Given the description of an element on the screen output the (x, y) to click on. 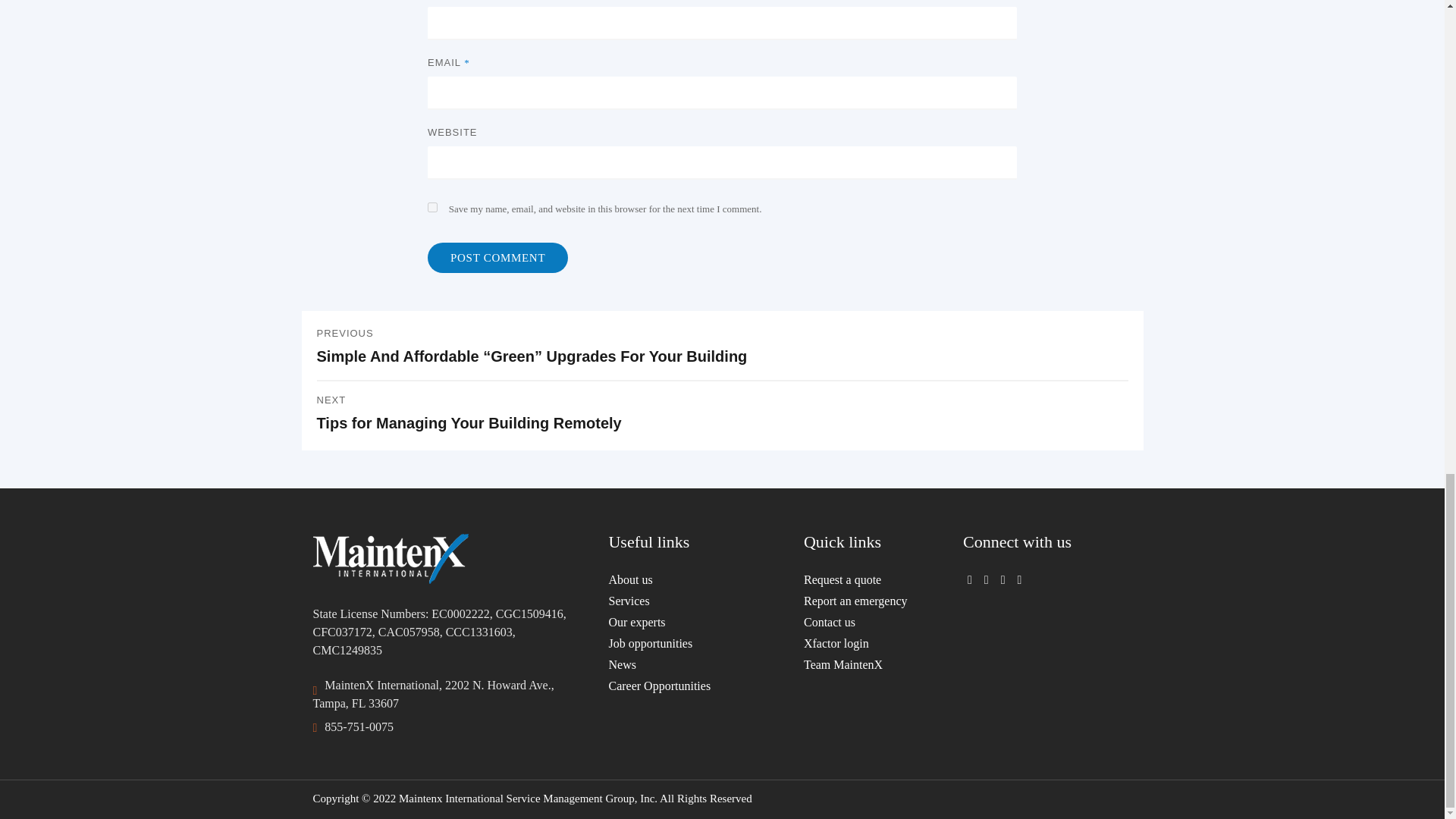
Xfactor login (862, 643)
Post Comment (497, 257)
News (694, 664)
Post Comment (497, 257)
Services (694, 600)
Career Opportunities (694, 685)
855-751-0075 (358, 726)
Team MaintenX (862, 664)
Report an emergency (722, 413)
